Given the description of an element on the screen output the (x, y) to click on. 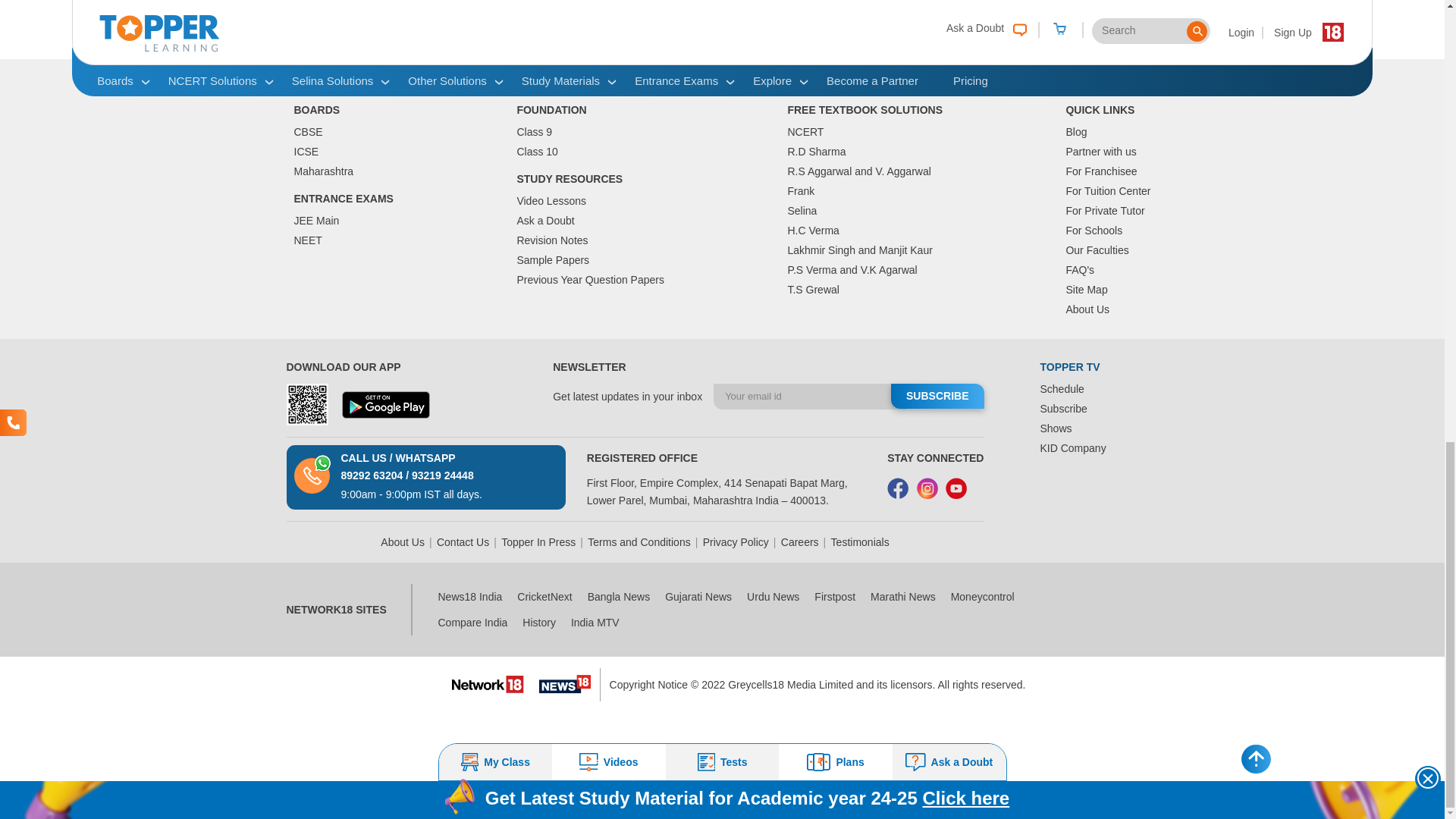
News18 (564, 683)
Googleplay (385, 404)
QR Code (307, 404)
Network18 (487, 683)
